Given the description of an element on the screen output the (x, y) to click on. 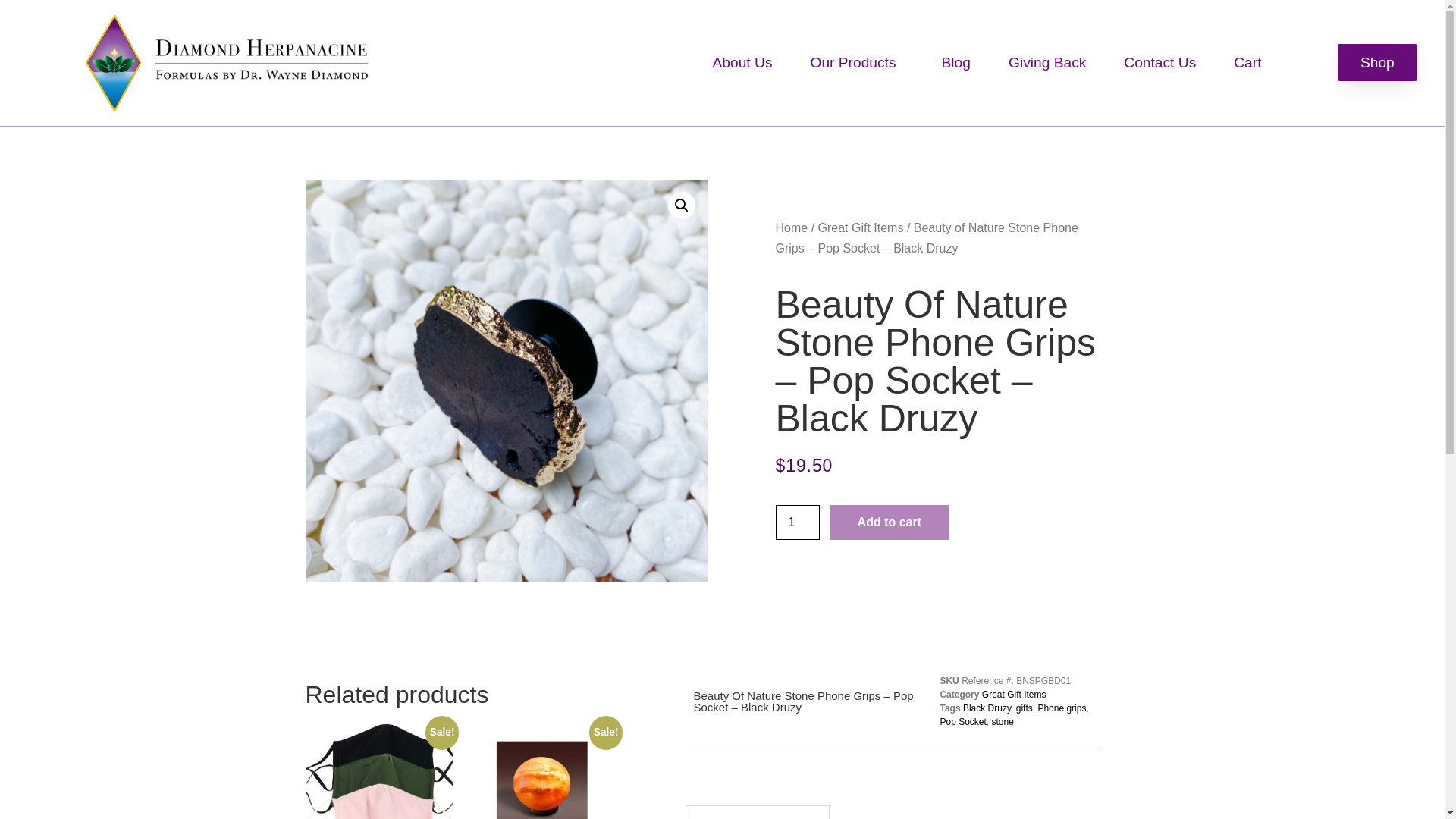
About Us (743, 62)
Giving Back (1047, 62)
Contact Us (1159, 62)
Cart (1246, 62)
Blog (956, 62)
Shop (1377, 62)
1 (796, 522)
Our Products (857, 62)
